Given the description of an element on the screen output the (x, y) to click on. 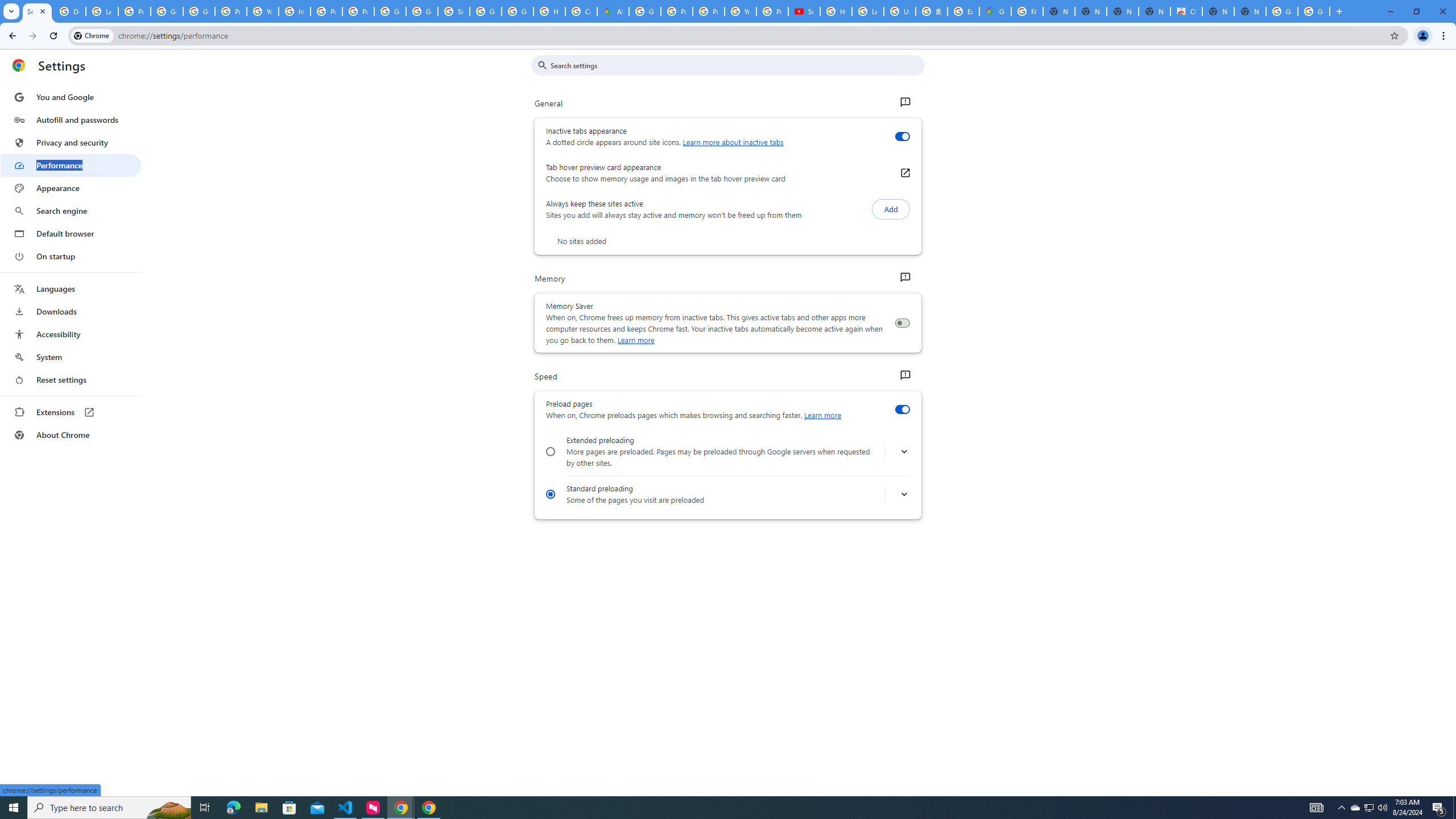
Delete photos & videos - Computer - Google Photos Help (69, 11)
 More info about turning on standard preloading (903, 494)
Google Images (1281, 11)
Accessibility (70, 333)
Extended preloading (550, 452)
